Given the description of an element on the screen output the (x, y) to click on. 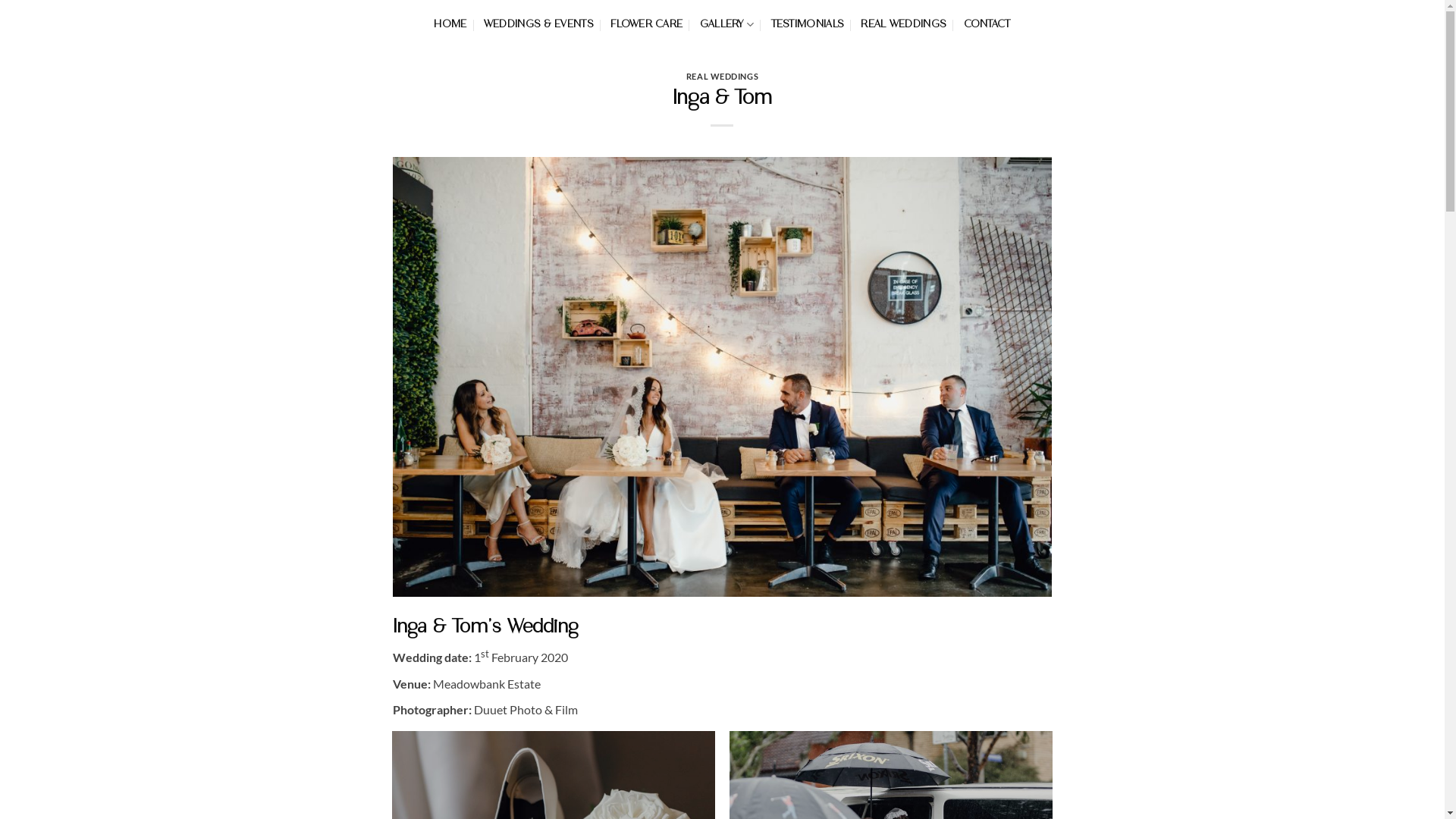
CONTACT Element type: text (986, 24)
GALLERY Element type: text (726, 24)
TESTIMONIALS Element type: text (807, 24)
REAL WEDDINGS Element type: text (722, 76)
WEDDINGS & EVENTS Element type: text (538, 24)
REAL WEDDINGS Element type: text (903, 24)
HOME Element type: text (449, 24)
Skip to content Element type: text (0, 0)
FLOWER CARE Element type: text (646, 24)
